Given the description of an element on the screen output the (x, y) to click on. 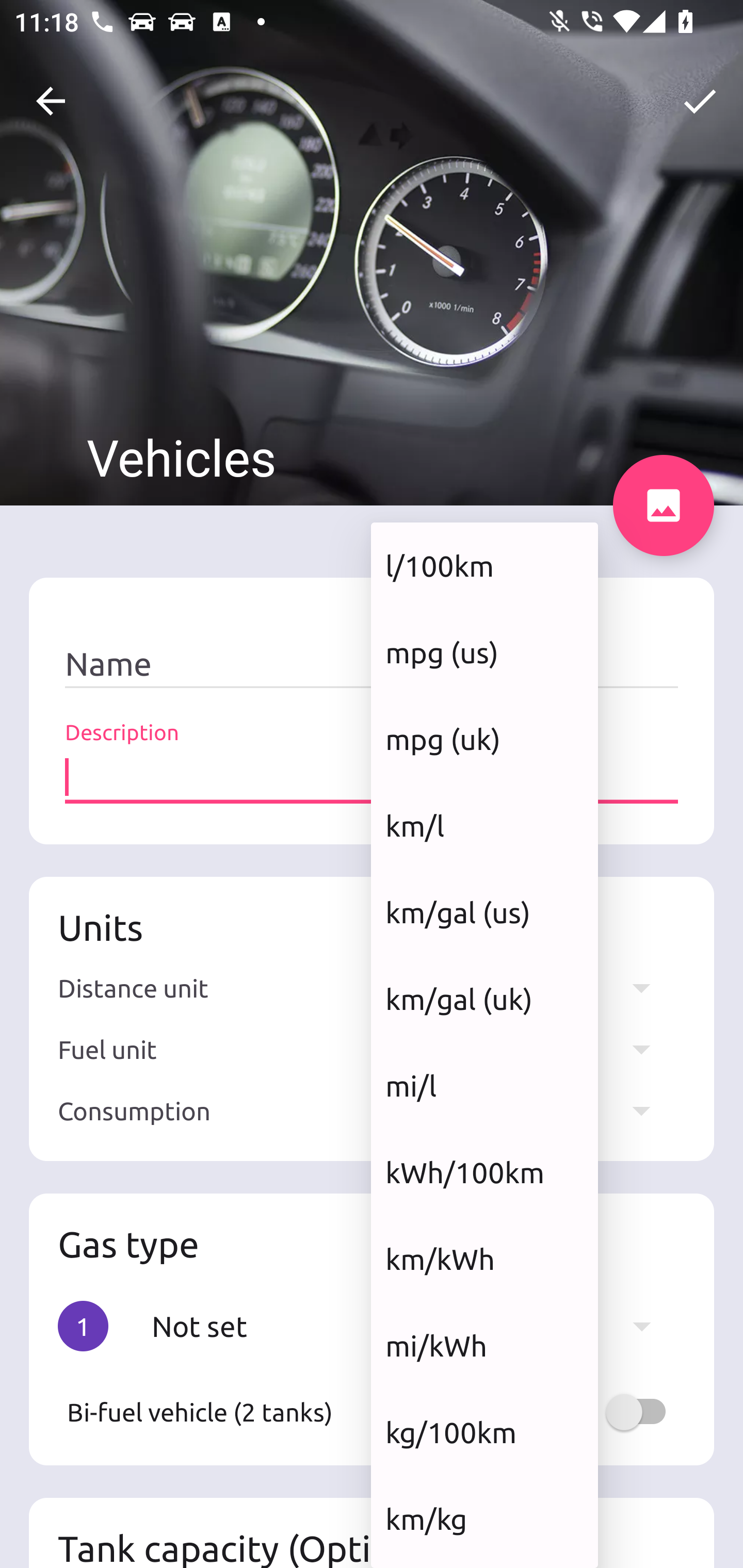
l/100km (484, 565)
mpg (us) (484, 652)
mpg (uk) (484, 739)
km/l (484, 825)
km/gal (us) (484, 912)
km/gal (uk) (484, 999)
mi/l (484, 1085)
kWh/100km (484, 1171)
km/kWh (484, 1259)
mi/kWh (484, 1346)
kg/100km (484, 1432)
km/kg (484, 1518)
